Given the description of an element on the screen output the (x, y) to click on. 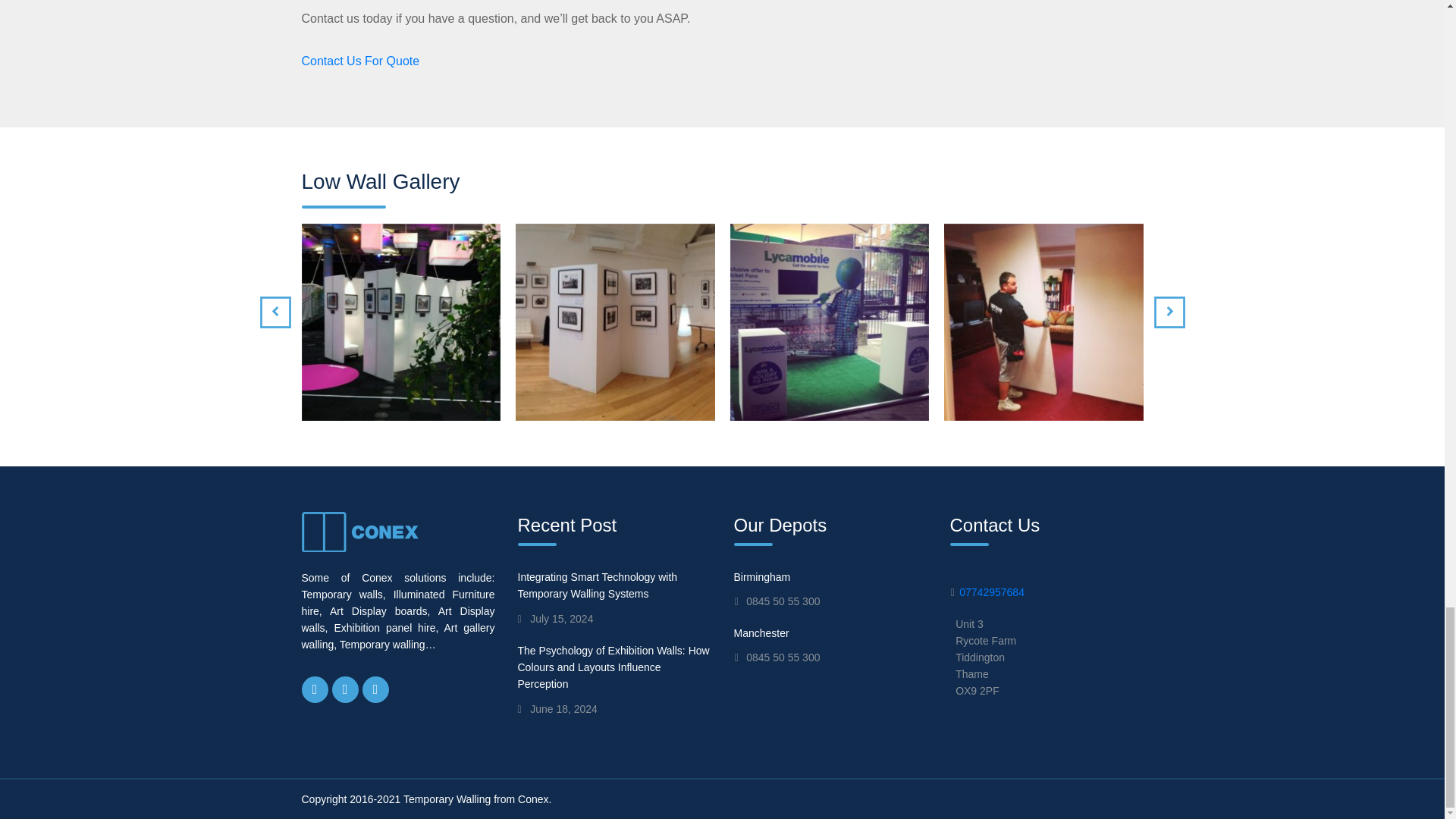
Contact Us (360, 60)
